Given the description of an element on the screen output the (x, y) to click on. 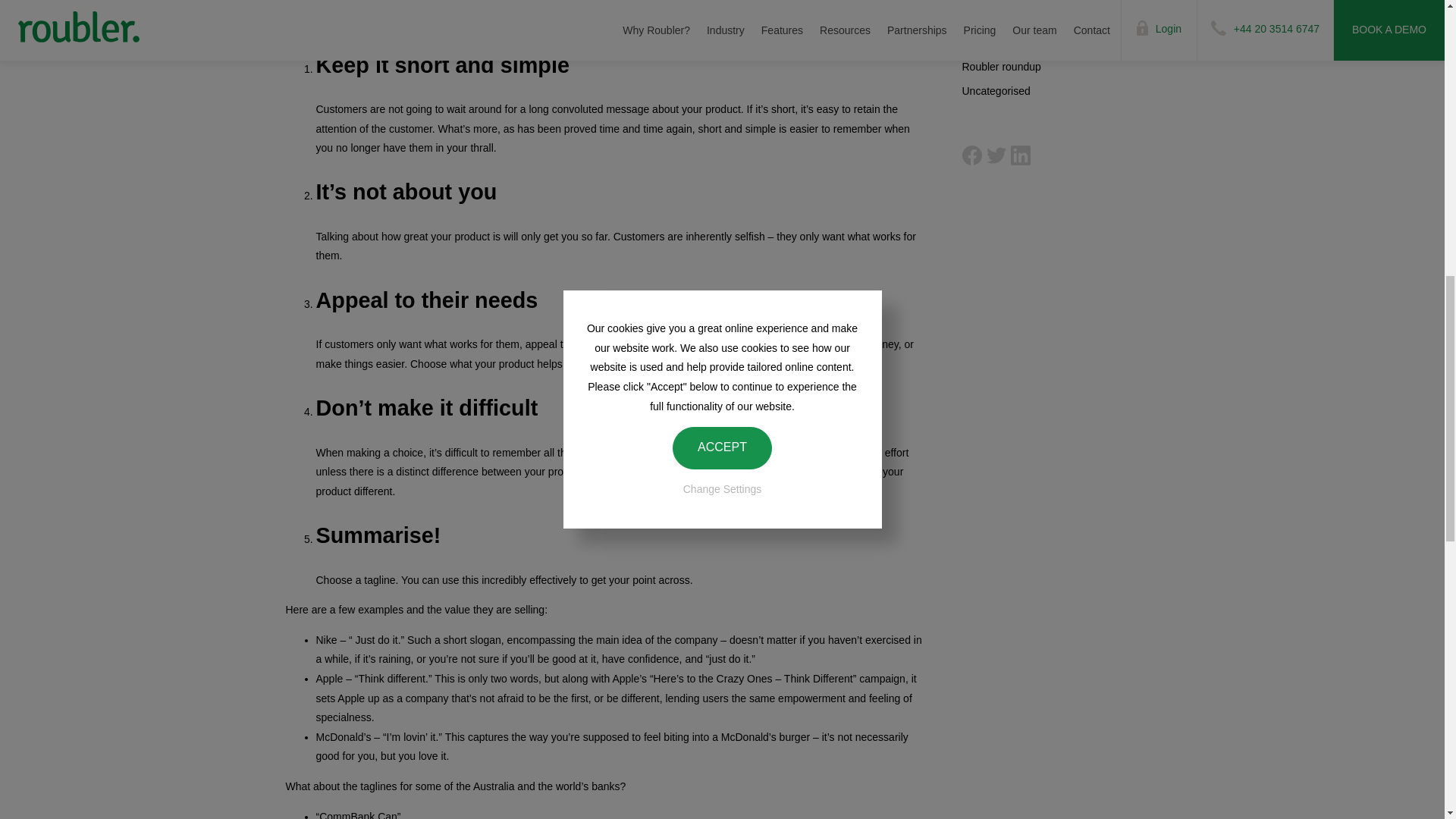
Share on Twitter (995, 155)
Share on LinkedIn (1019, 155)
Share on Facebook (970, 155)
